Given the description of an element on the screen output the (x, y) to click on. 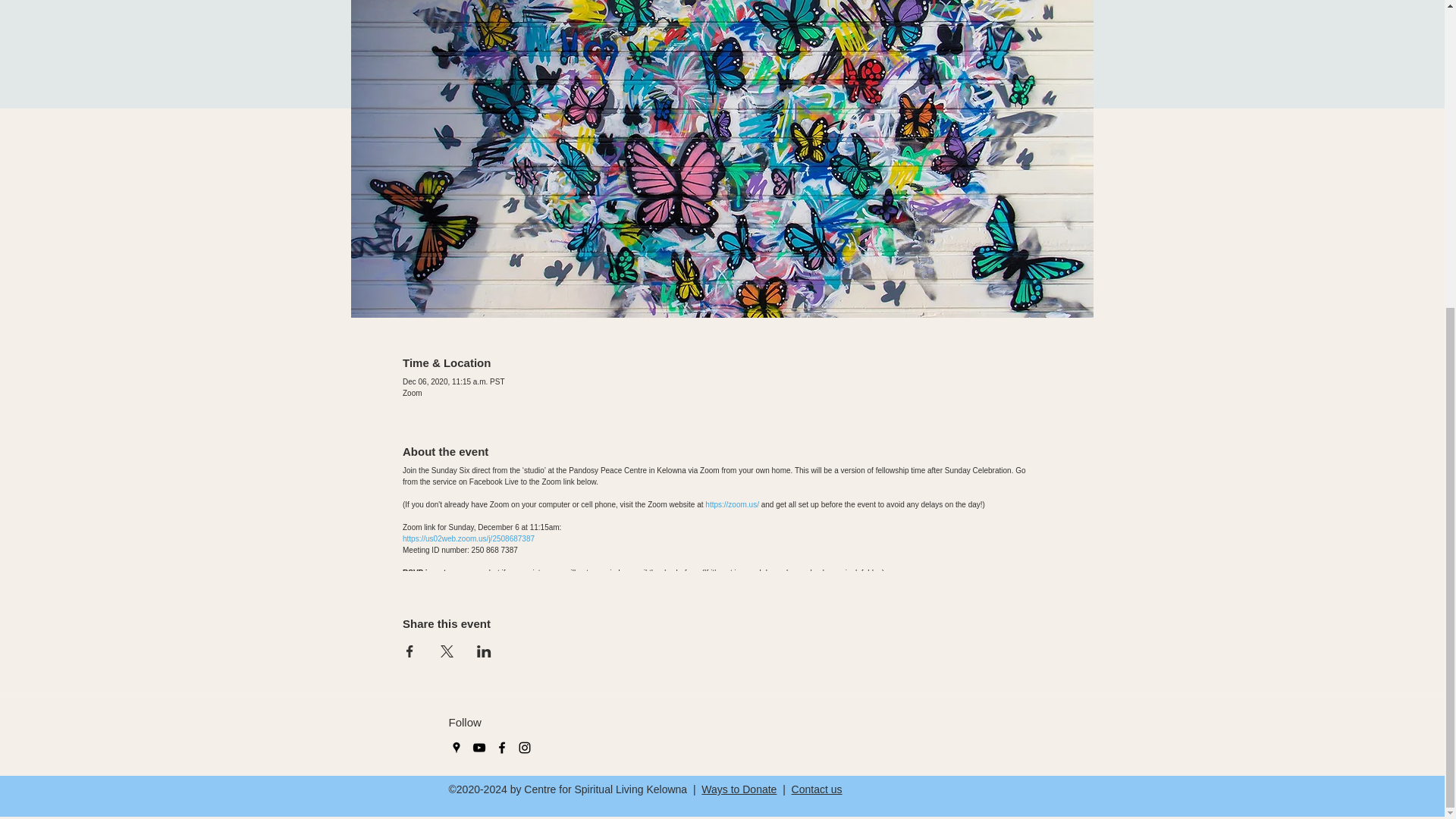
Contact us (817, 788)
Ways to Donate (738, 788)
